Given the description of an element on the screen output the (x, y) to click on. 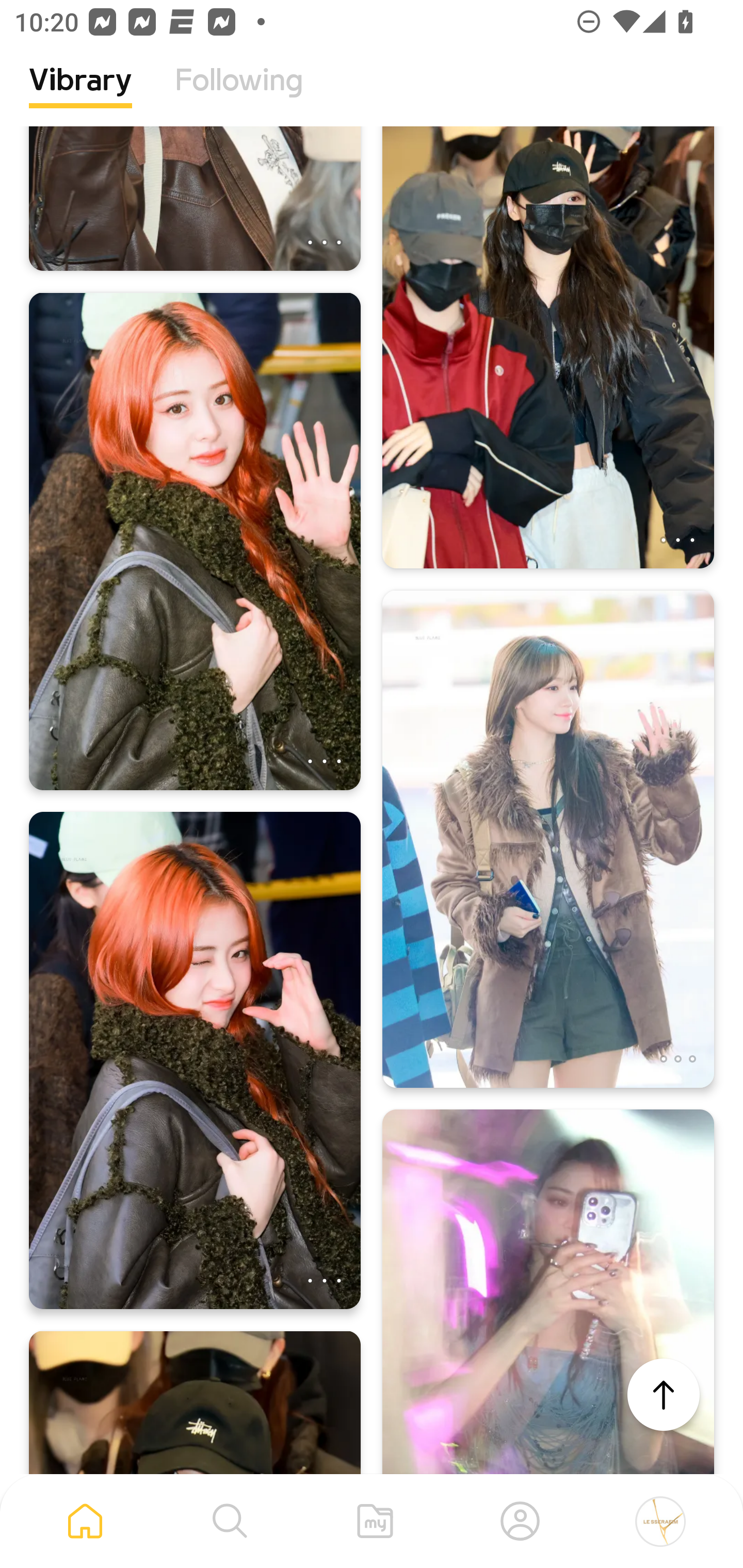
Vibrary (80, 95)
Following (239, 95)
